Given the description of an element on the screen output the (x, y) to click on. 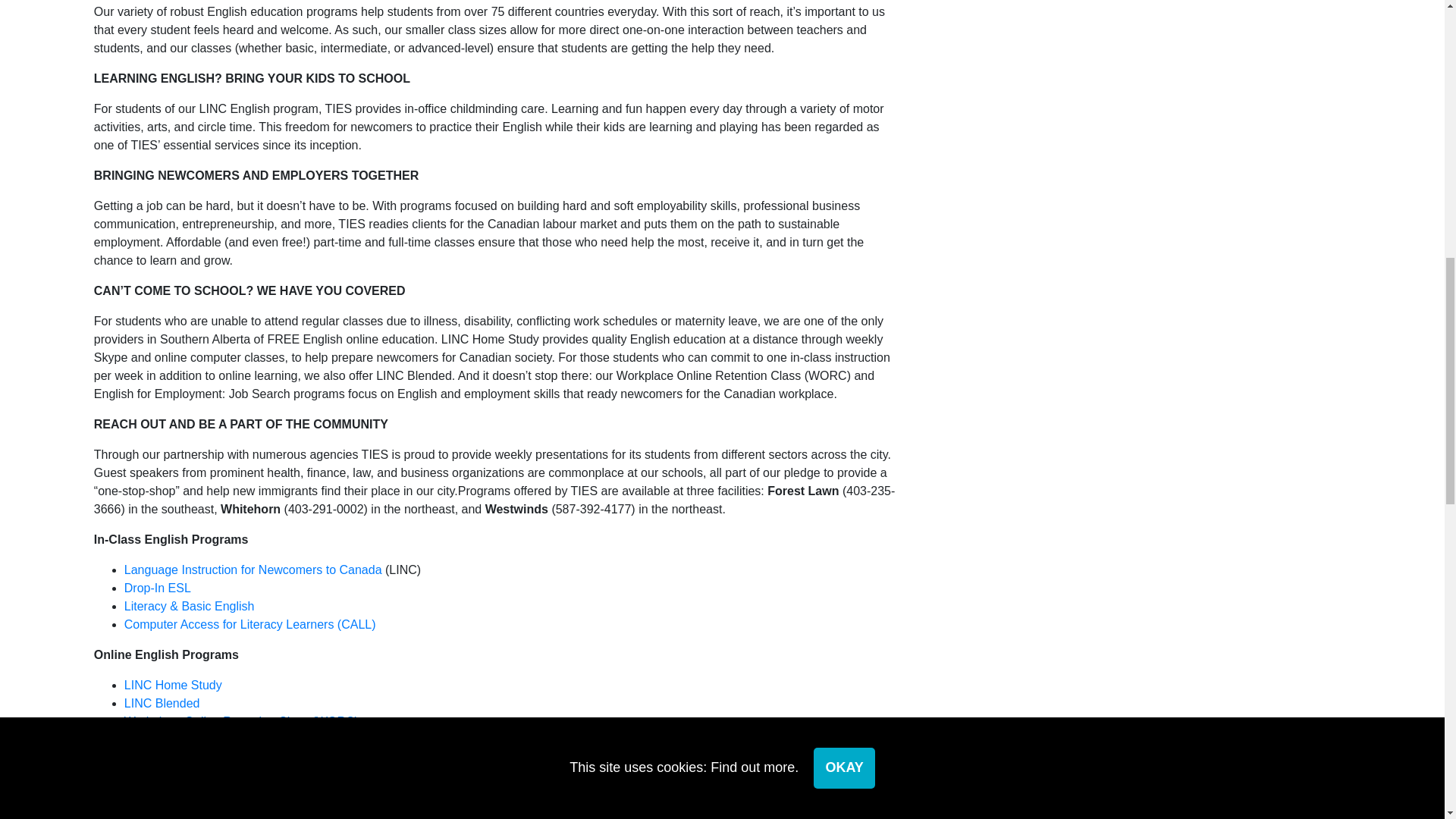
Language Instruction for Newcomers to Canada (252, 569)
English for Employment: Job Search  (223, 739)
Drop-In ESL  (158, 587)
LINC Blended (161, 703)
LINC Home Study (172, 684)
